Given the description of an element on the screen output the (x, y) to click on. 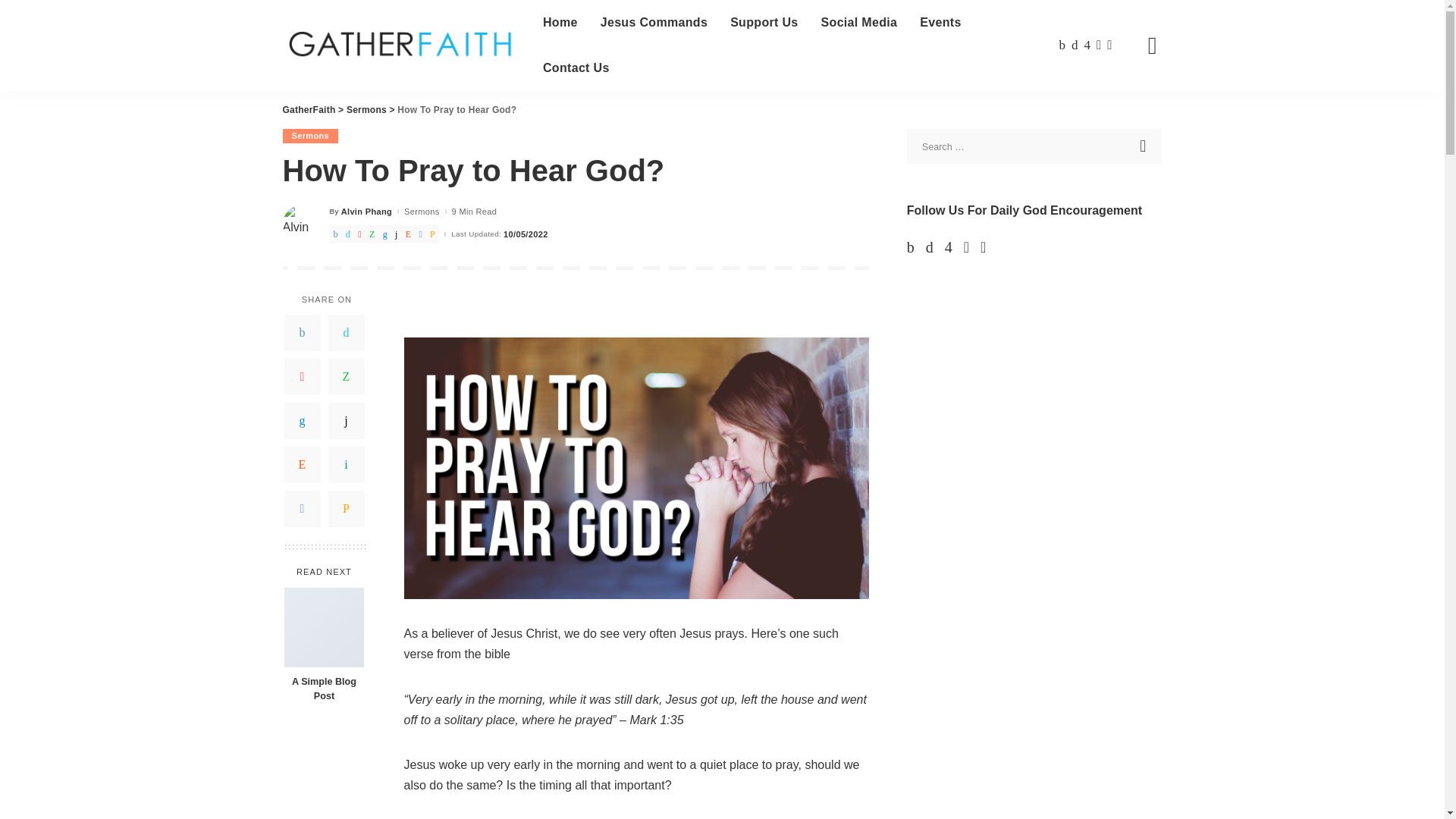
GatherFaith (400, 45)
Support Us (764, 22)
Search (1140, 121)
Alvin Phang (365, 212)
Search (1143, 145)
GatherFaith (308, 109)
Events (940, 22)
Home (560, 22)
Social Media (858, 22)
Contact Us (576, 67)
